Given the description of an element on the screen output the (x, y) to click on. 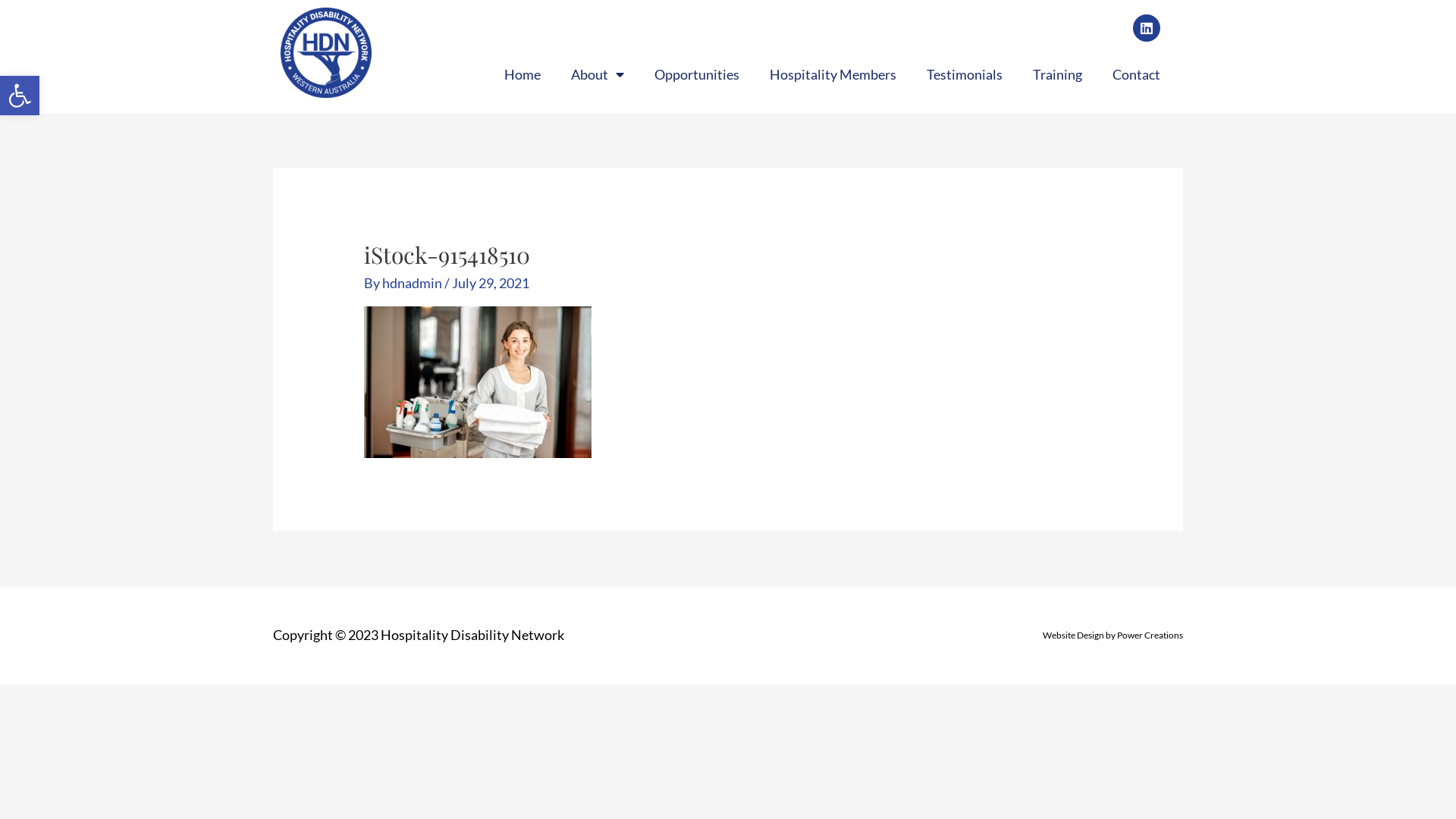
Contact Element type: text (1136, 73)
Open toolbar
Accessibility Tools Element type: text (19, 95)
hdnadmin Element type: text (413, 282)
Opportunities Element type: text (696, 73)
About Element type: text (597, 73)
Training Element type: text (1057, 73)
Testimonials Element type: text (964, 73)
Home Element type: text (522, 73)
Power Creations Element type: text (1150, 634)
Linkedin Element type: text (1146, 27)
Hospitality Members Element type: text (832, 73)
